Given the description of an element on the screen output the (x, y) to click on. 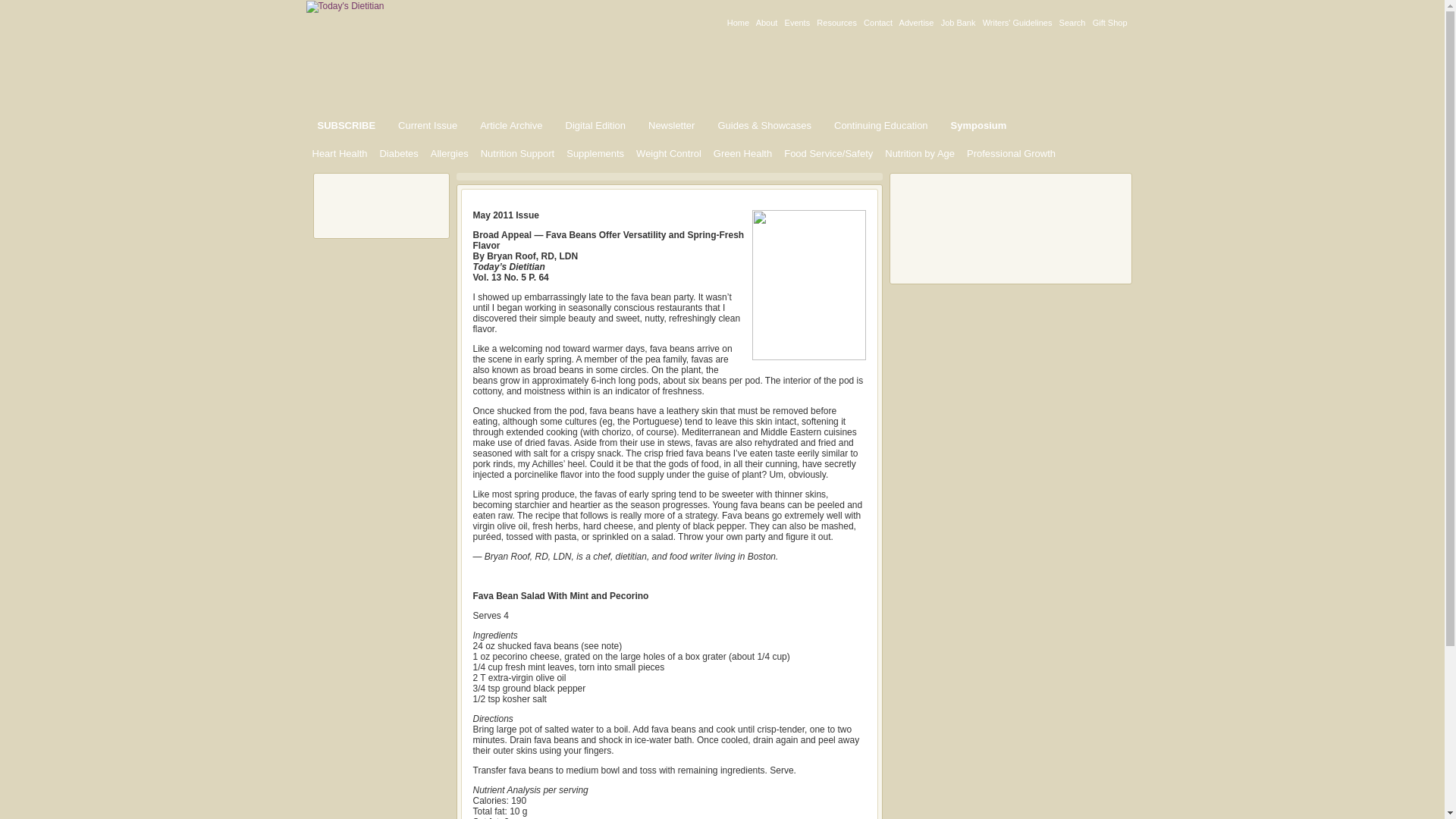
Green Health (742, 153)
Weight Control (668, 153)
Article Archive (510, 125)
SUBSCRIBE (346, 125)
Current Issue (427, 125)
Nutrition by Age (919, 153)
Job Bank (957, 22)
Home (737, 22)
Events (797, 22)
Digital Edition (595, 125)
Continuing Education (880, 125)
Contact (877, 22)
Professional Growth (1010, 153)
Heart Health (339, 153)
Symposium (978, 125)
